Given the description of an element on the screen output the (x, y) to click on. 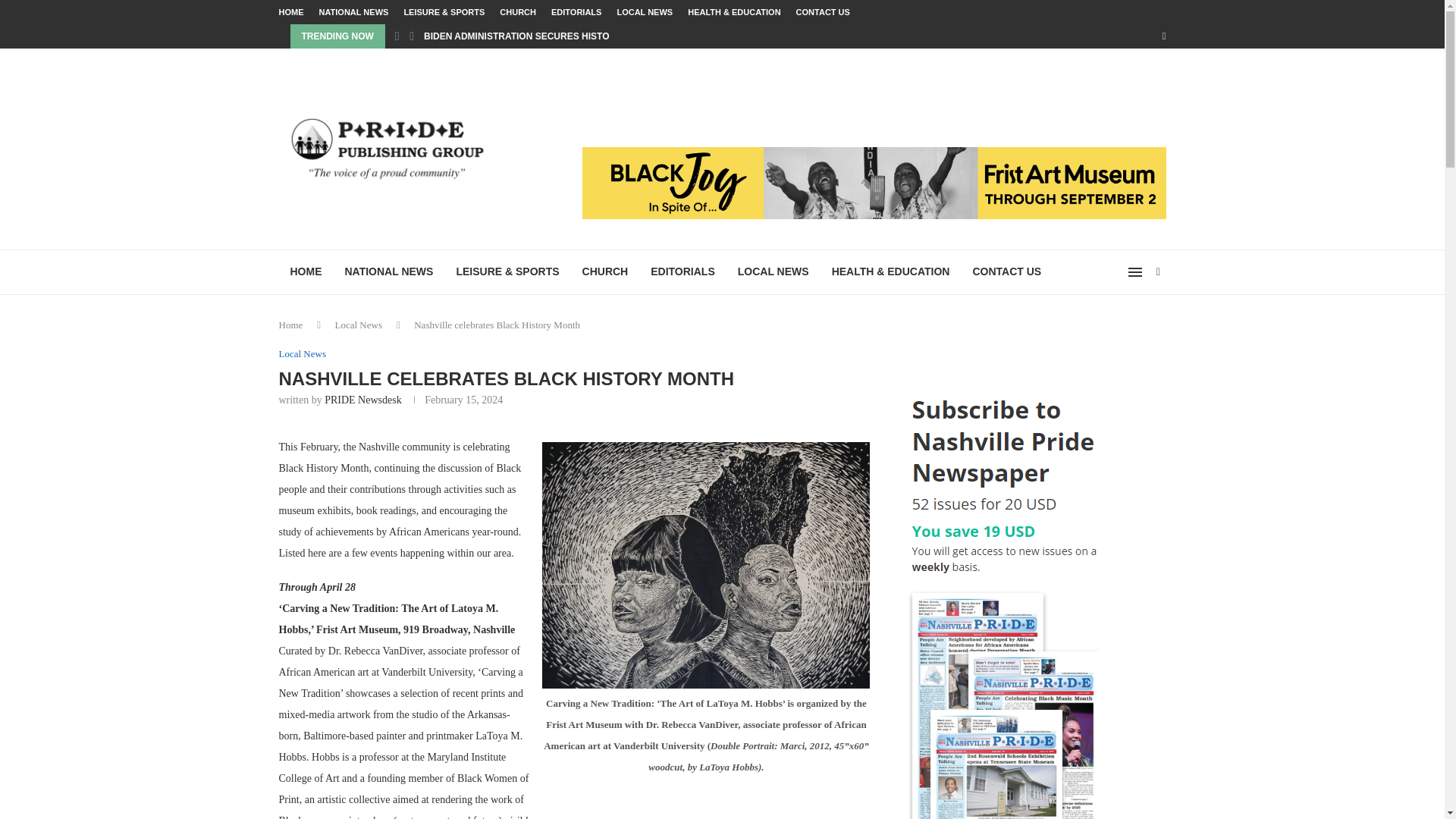
PRIDE Newsdesk (362, 399)
LOCAL NEWS (643, 12)
NATIONAL NEWS (389, 271)
CONTACT US (823, 12)
CONTACT US (1006, 271)
LOCAL NEWS (773, 271)
CHURCH (517, 12)
HOME (291, 12)
EDITORIALS (576, 12)
CHURCH (605, 271)
